Given the description of an element on the screen output the (x, y) to click on. 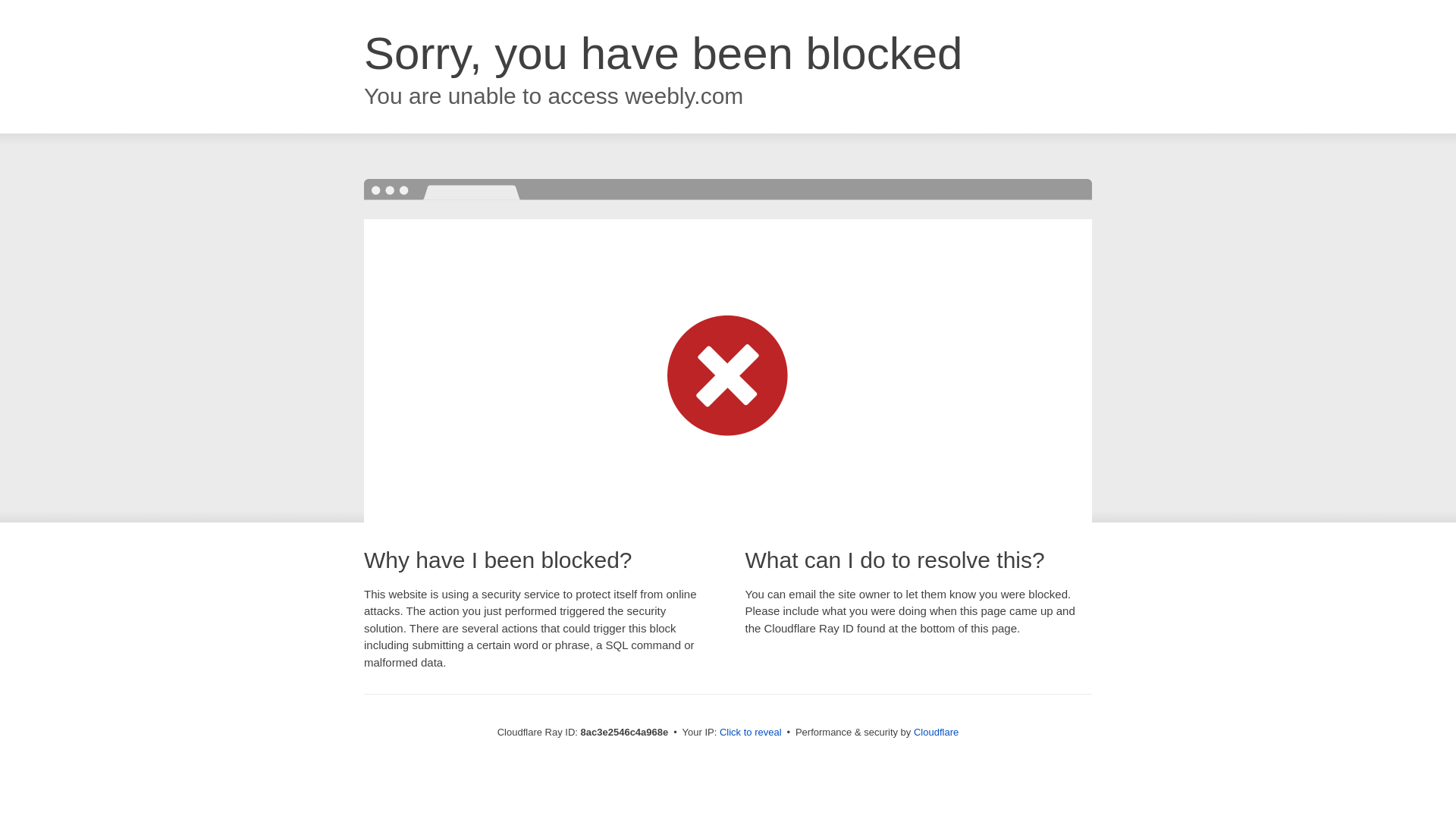
Click to reveal (750, 732)
Cloudflare (936, 731)
